Given the description of an element on the screen output the (x, y) to click on. 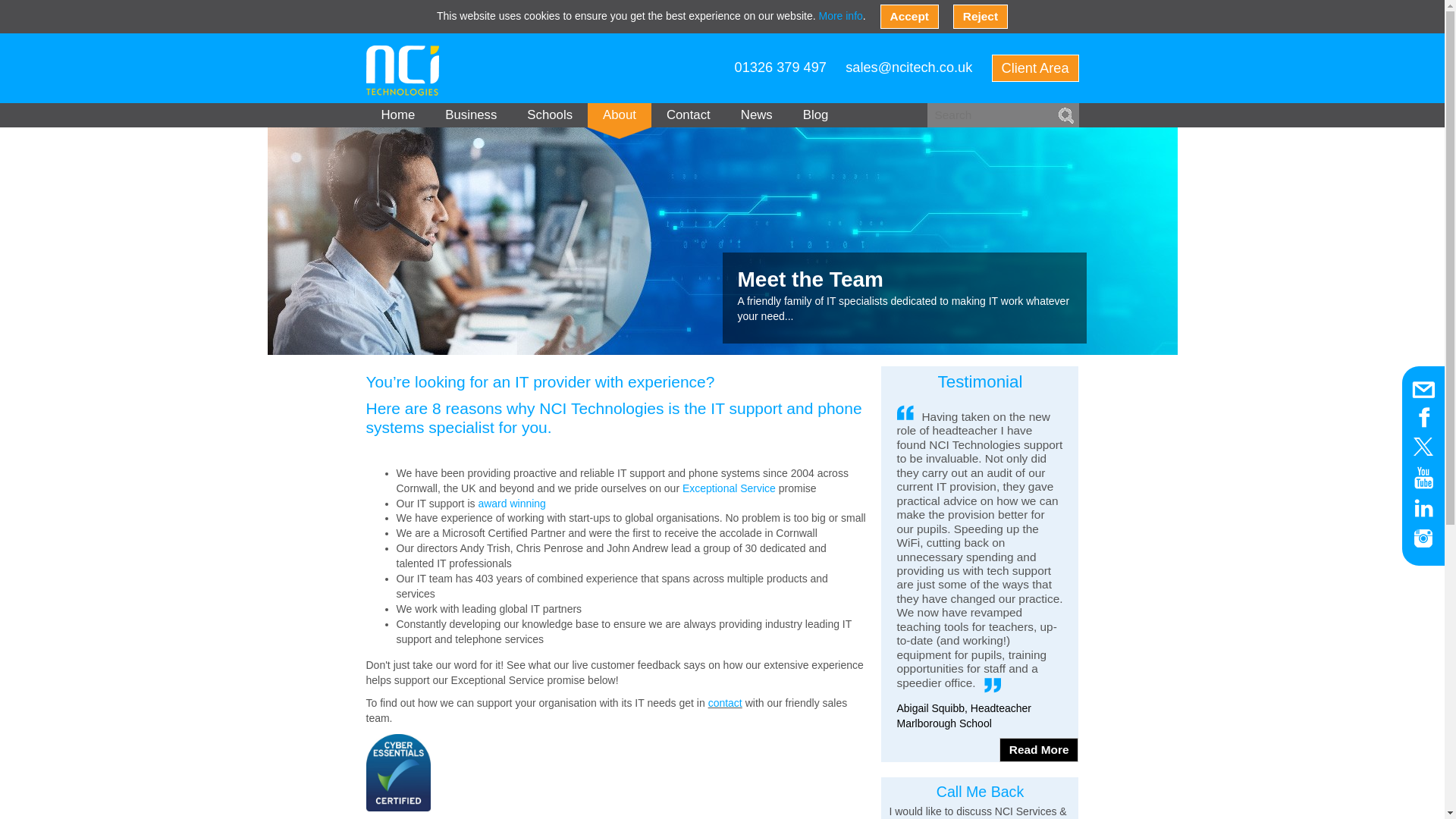
More info (839, 15)
Blog (815, 115)
01326 379 497 (781, 67)
Follow us on instagram (1422, 538)
News (756, 115)
Follow us on facebook (1422, 416)
Schools (550, 115)
Contact (687, 115)
Reject (980, 16)
Email us (1422, 389)
Accept (909, 16)
Follow us on twitter (1422, 445)
Client Area (1034, 67)
Follow us on youtube (1422, 477)
About (619, 115)
